Given the description of an element on the screen output the (x, y) to click on. 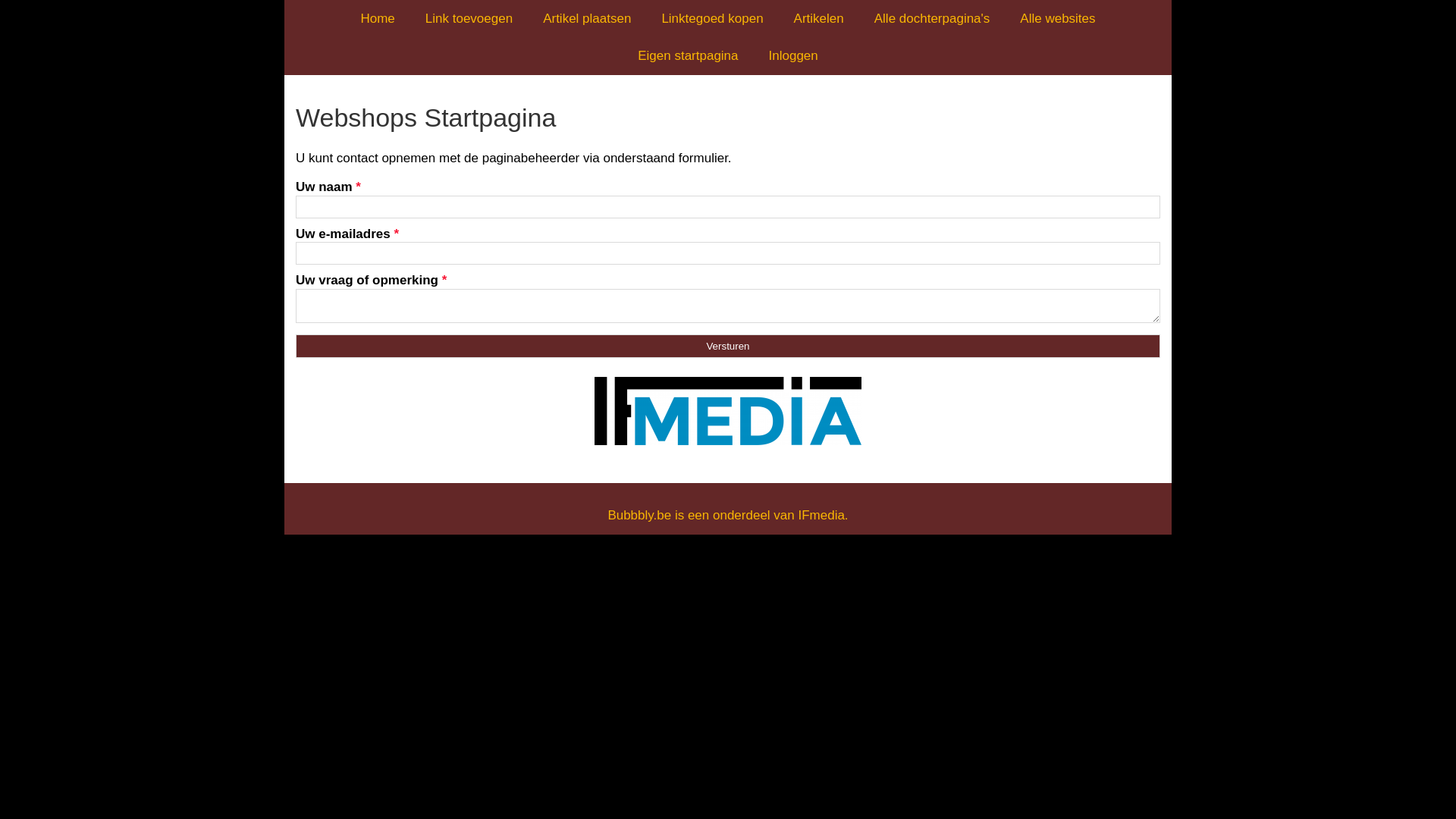
Link toevoegen Element type: text (468, 18)
Webshops Startpagina Element type: text (727, 117)
Linktegoed kopen Element type: text (712, 18)
Alle websites Element type: text (1057, 18)
Eigen startpagina Element type: text (687, 55)
Inloggen Element type: text (793, 55)
Artikel plaatsen Element type: text (586, 18)
Versturen Element type: text (727, 345)
Home Element type: text (377, 18)
Artikelen Element type: text (818, 18)
Alle dochterpagina's Element type: text (932, 18)
